Given the description of an element on the screen output the (x, y) to click on. 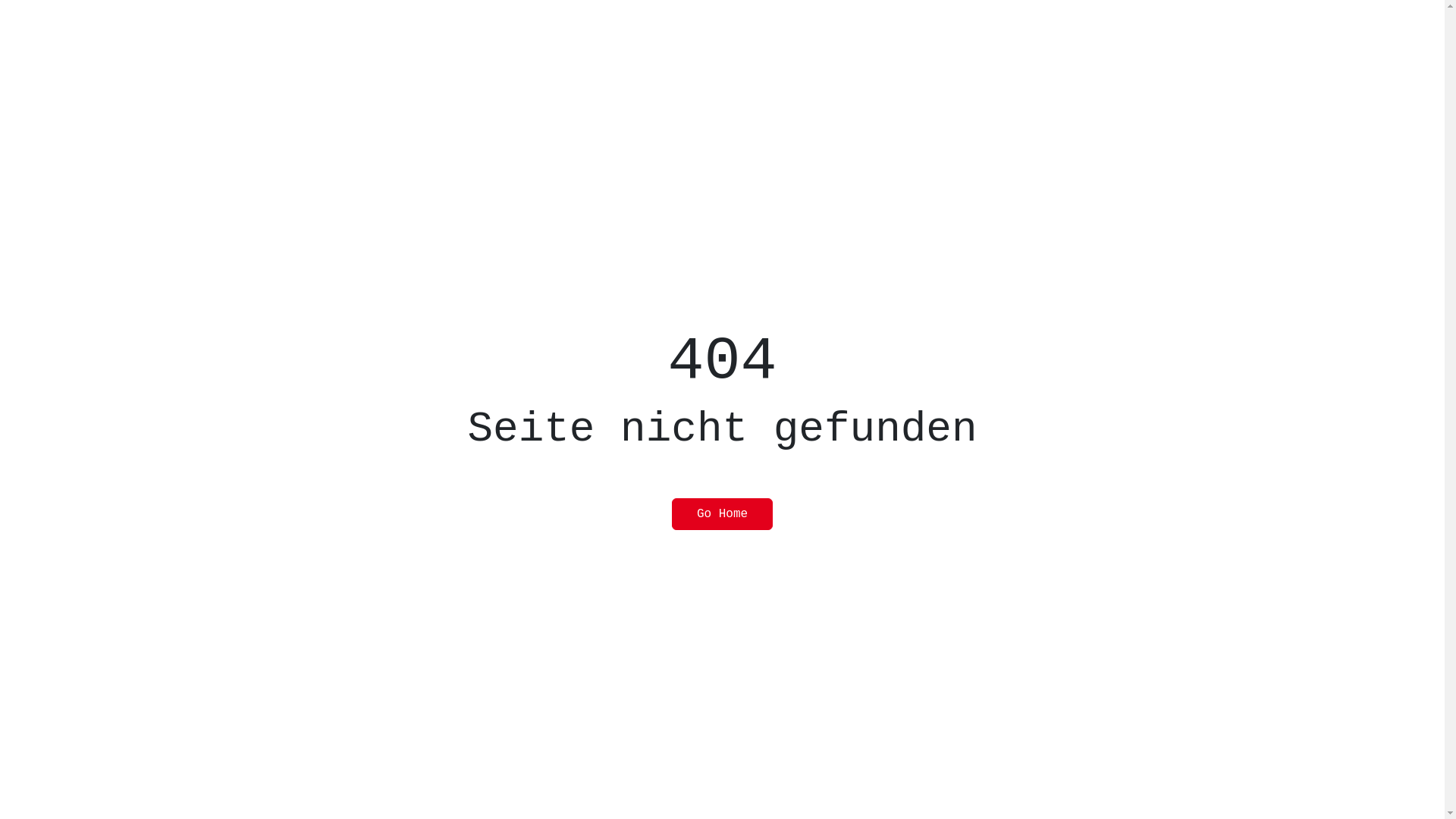
Go Home Element type: text (721, 514)
